Given the description of an element on the screen output the (x, y) to click on. 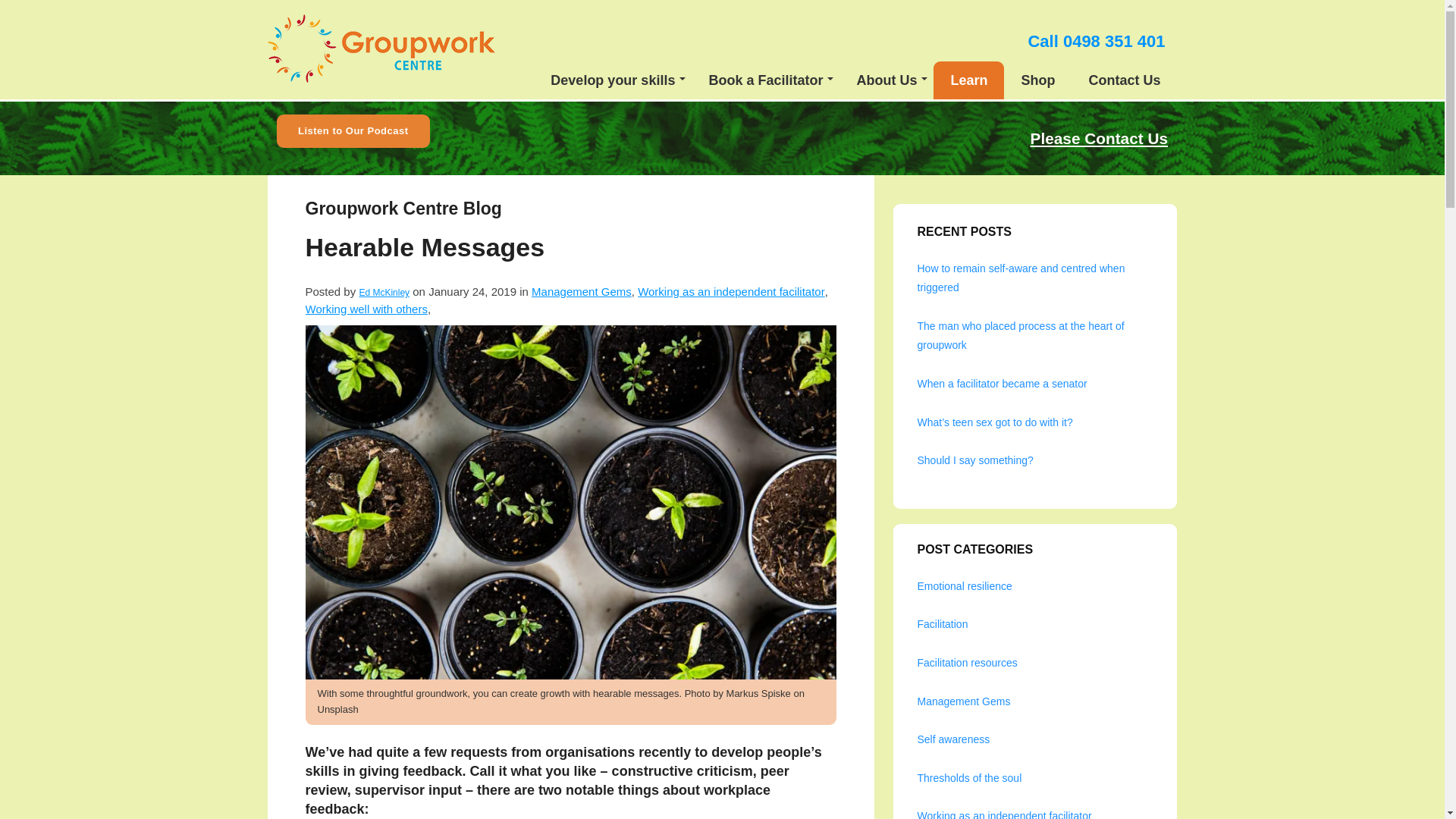
Working well with others (365, 308)
Listen to Our Podcast (352, 130)
Contact Us (1123, 80)
Posts by Ed McKinley (383, 292)
Shop (1037, 80)
Call 0498 351 401 (1095, 40)
Develop your skills (612, 80)
Ed McKinley (383, 292)
Working as an independent facilitator (731, 291)
Book a Facilitator (765, 80)
About Us (886, 80)
Management Gems (581, 291)
Learn (968, 80)
Please Contact Us (1098, 137)
